Given the description of an element on the screen output the (x, y) to click on. 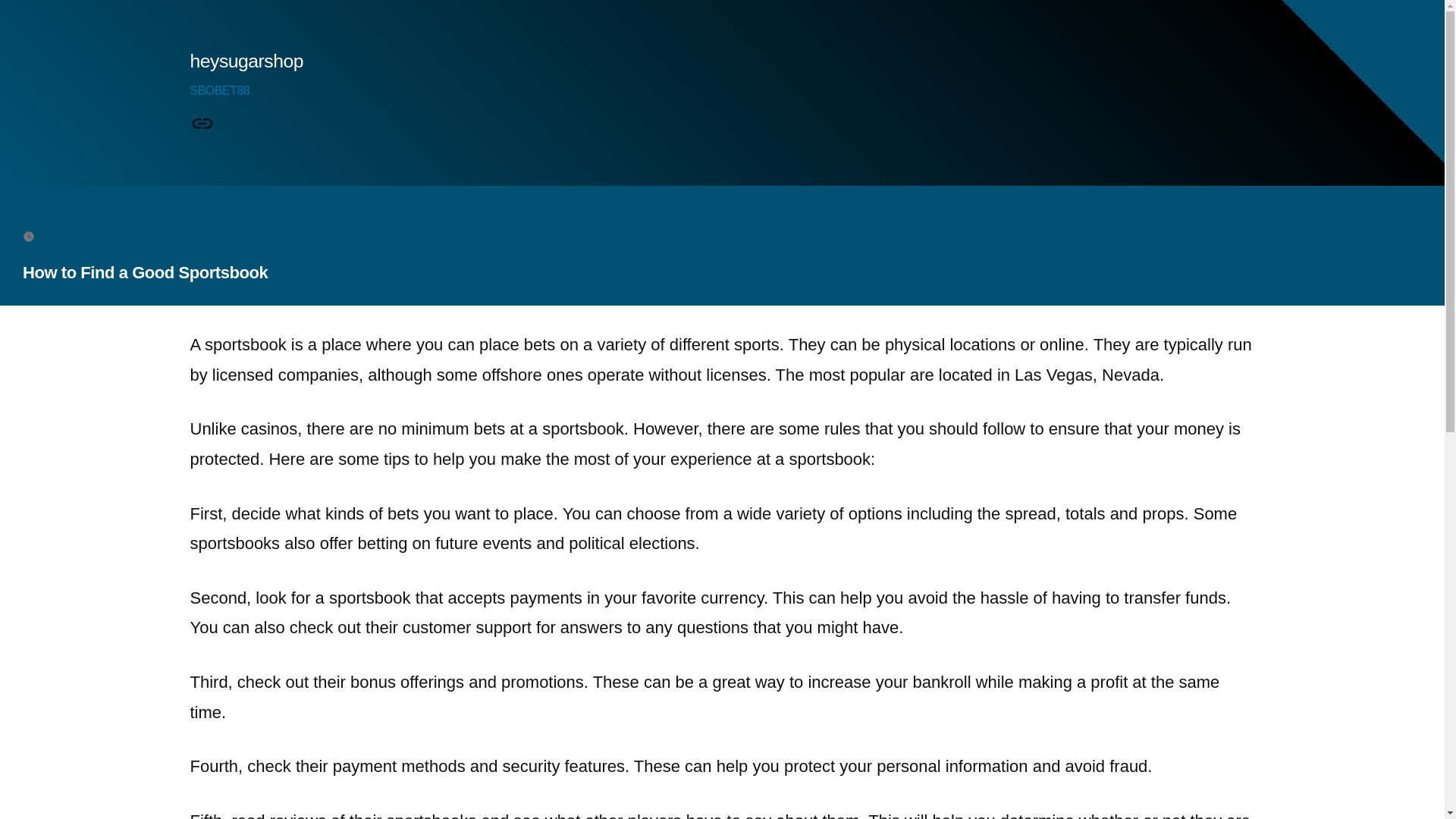
SBOBET88 (201, 123)
March 18, 2023 (81, 235)
SBOBET88 (218, 90)
heysugarshop (245, 60)
